Given the description of an element on the screen output the (x, y) to click on. 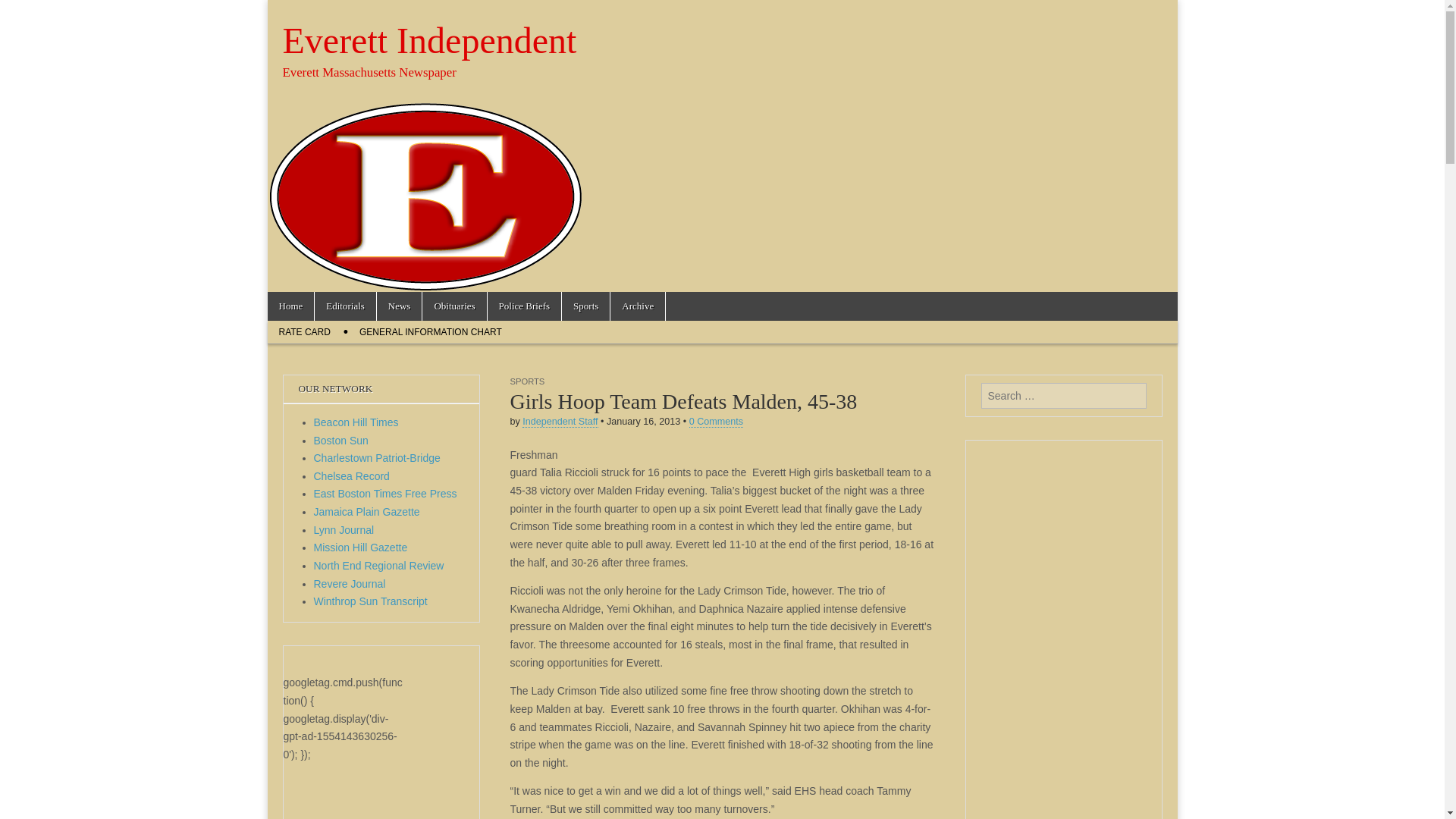
0 Comments (715, 421)
Sports (586, 306)
Revere Journal (349, 583)
Everett Independent (429, 40)
Everett Independent (429, 40)
SPORTS (526, 380)
Lynn Journal (344, 530)
Boston Sun (341, 440)
East Boston Times Free Press (385, 493)
Chelsea Record (352, 476)
Charlestown Patriot-Bridge (377, 458)
News (399, 306)
Home (290, 306)
Police Briefs (524, 306)
